Given the description of an element on the screen output the (x, y) to click on. 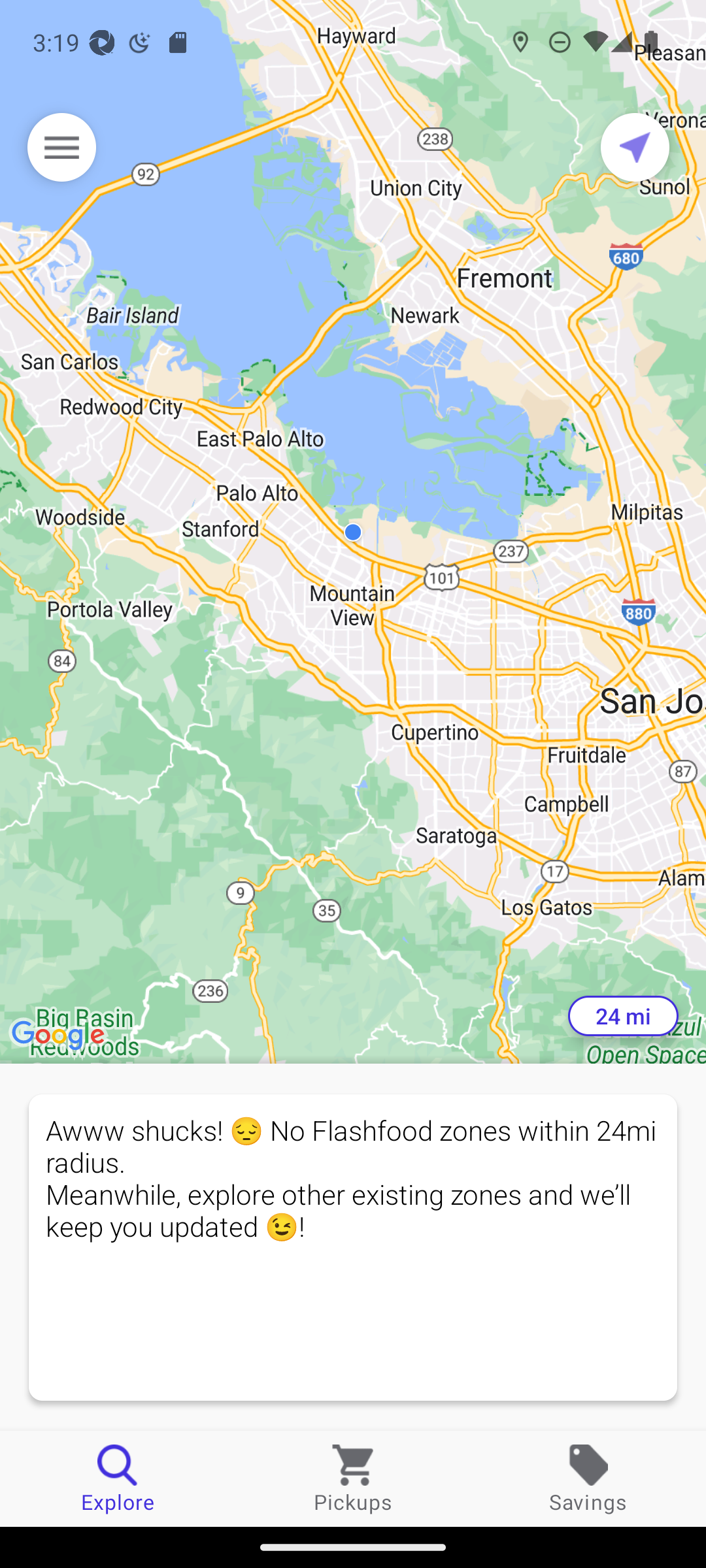
Menu (61, 146)
Current location (634, 146)
24 mi (623, 1015)
Pickups (352, 1478)
Savings (588, 1478)
